Given the description of an element on the screen output the (x, y) to click on. 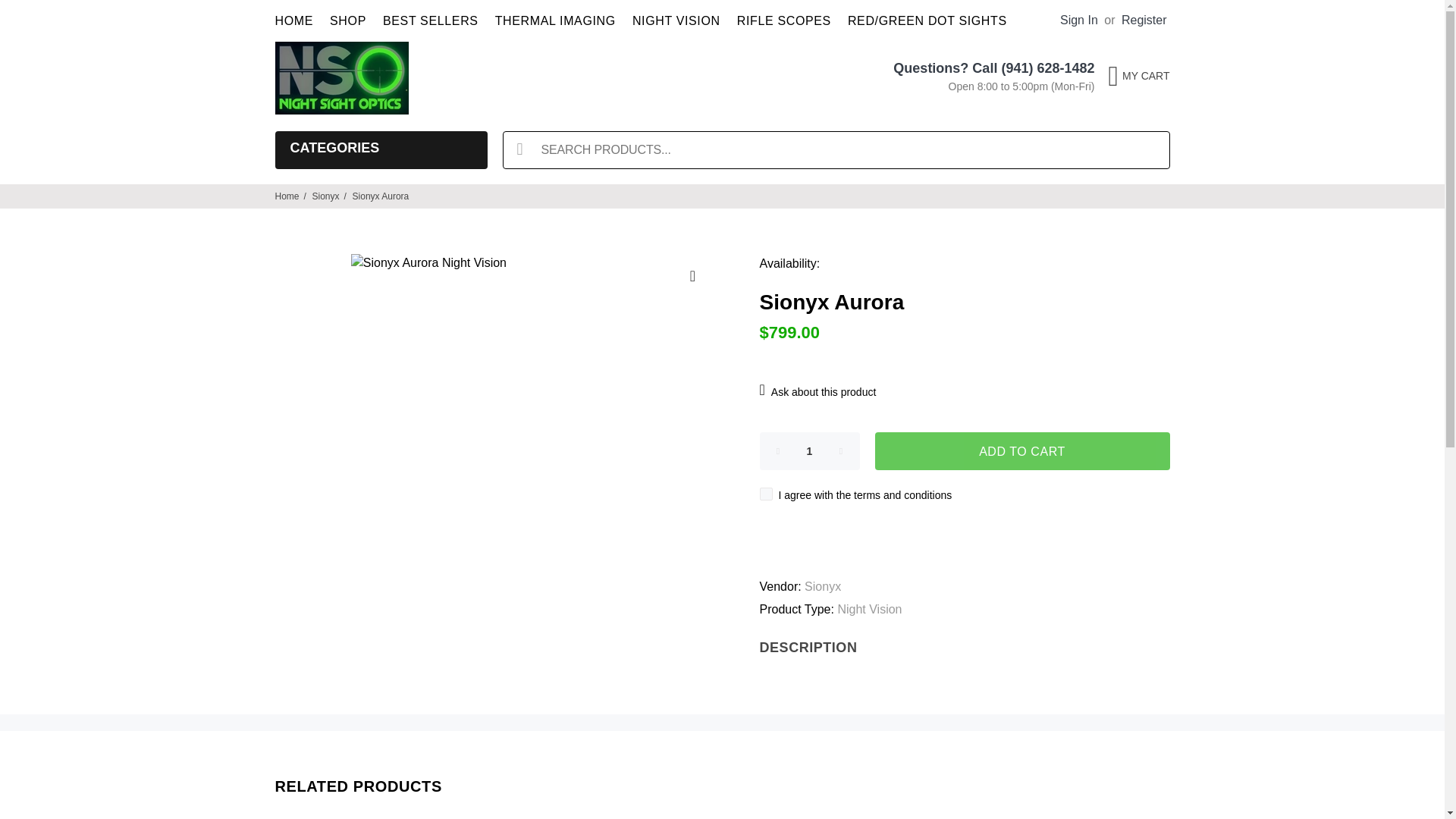
RIFLE SCOPES (784, 20)
HOME (298, 20)
BEST SELLERS (430, 20)
Register (1144, 19)
THERMAL IMAGING (555, 20)
MY CART (1135, 76)
Sign In (1078, 19)
1 (810, 451)
NIGHT VISION (676, 20)
SHOP (347, 20)
